Given the description of an element on the screen output the (x, y) to click on. 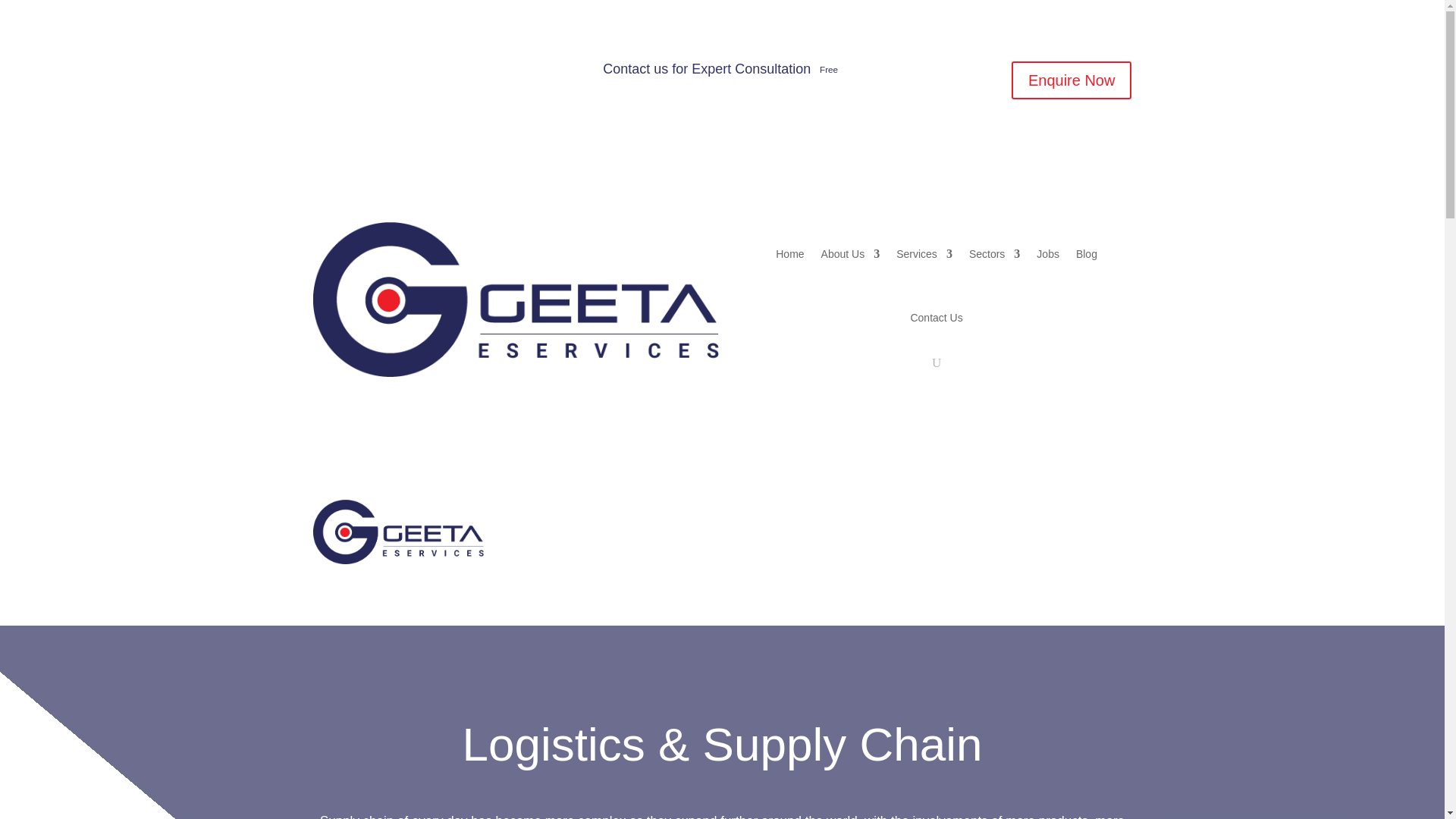
Follow on Facebook (324, 73)
Services (697, 514)
About Us (850, 253)
Enquire Now (1071, 80)
Home (557, 514)
Follow on Instagram (354, 73)
FINAL-LOGO trimed (398, 532)
Follow on LinkedIn (384, 73)
Geeta eServices Home (557, 514)
About Us (625, 514)
